Given the description of an element on the screen output the (x, y) to click on. 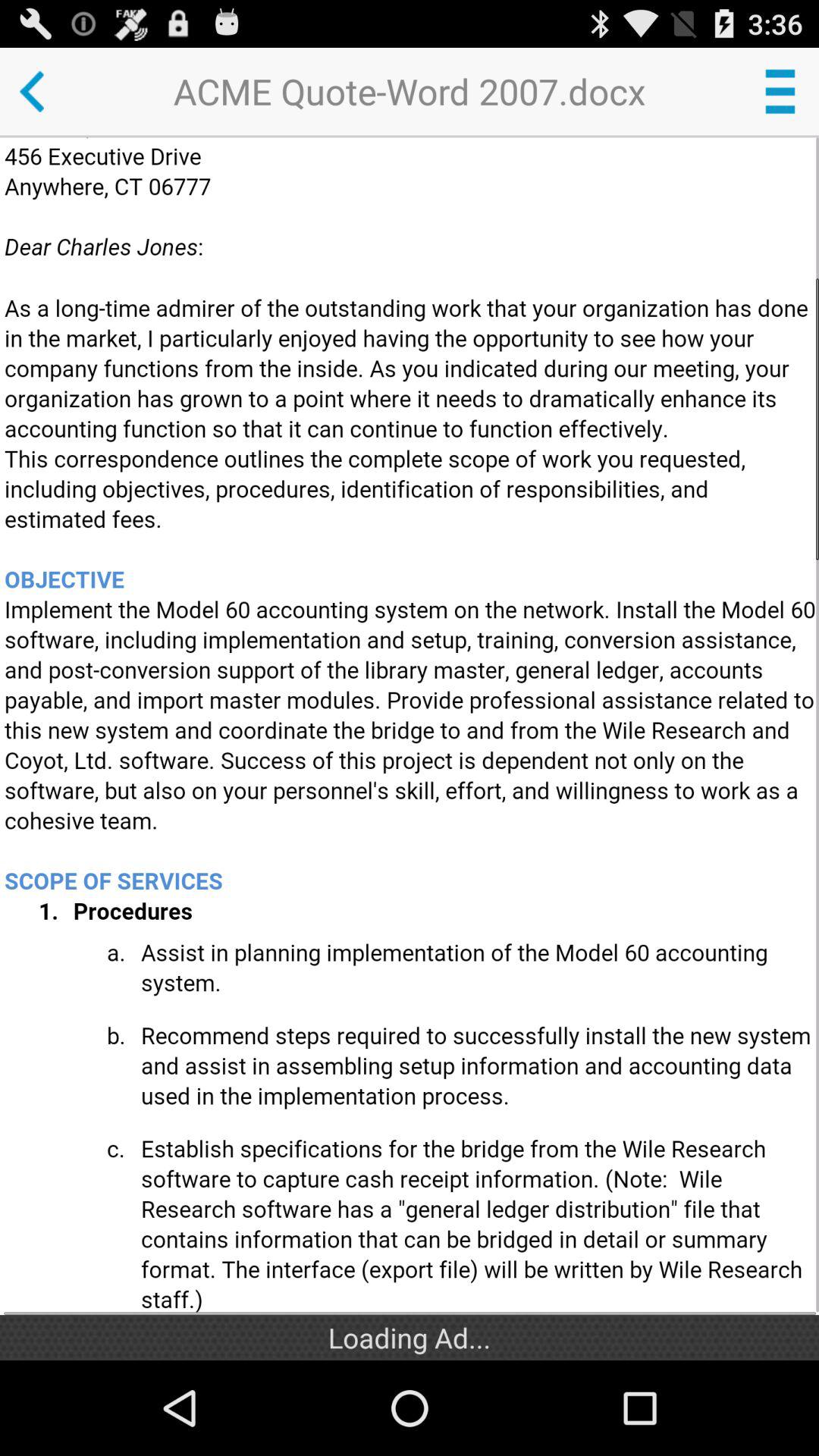
a button that will open more options for the document (779, 91)
